Given the description of an element on the screen output the (x, y) to click on. 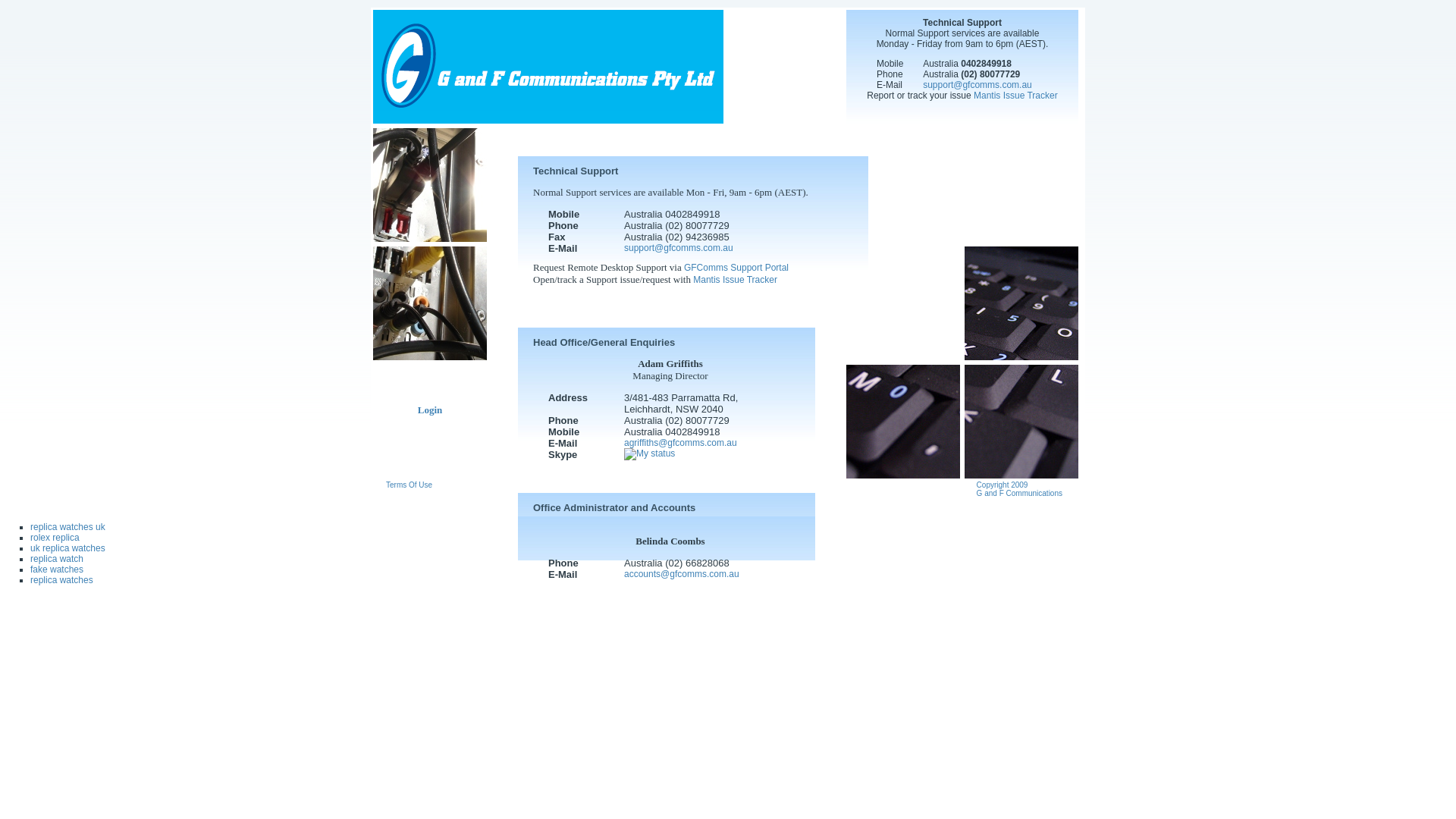
replica watch Element type: text (56, 558)
fake watches Element type: text (56, 569)
GFComms Support Portal Element type: text (736, 267)
Login Element type: text (429, 409)
G and F Communications Element type: hover (548, 120)
replica watches Element type: text (61, 579)
support@gfcomms.com.au Element type: text (678, 247)
Terms Of Use Element type: text (408, 484)
accounts@gfcomms.com.au Element type: text (681, 573)
Mantis Issue Tracker Element type: text (1015, 95)
uk replica watches Element type: text (67, 547)
agriffiths@gfcomms.com.au Element type: text (680, 442)
support@gfcomms.com.au Element type: text (977, 84)
Mantis Issue Tracker Element type: text (735, 279)
replica watches uk Element type: text (67, 526)
rolex replica Element type: text (54, 537)
